Given the description of an element on the screen output the (x, y) to click on. 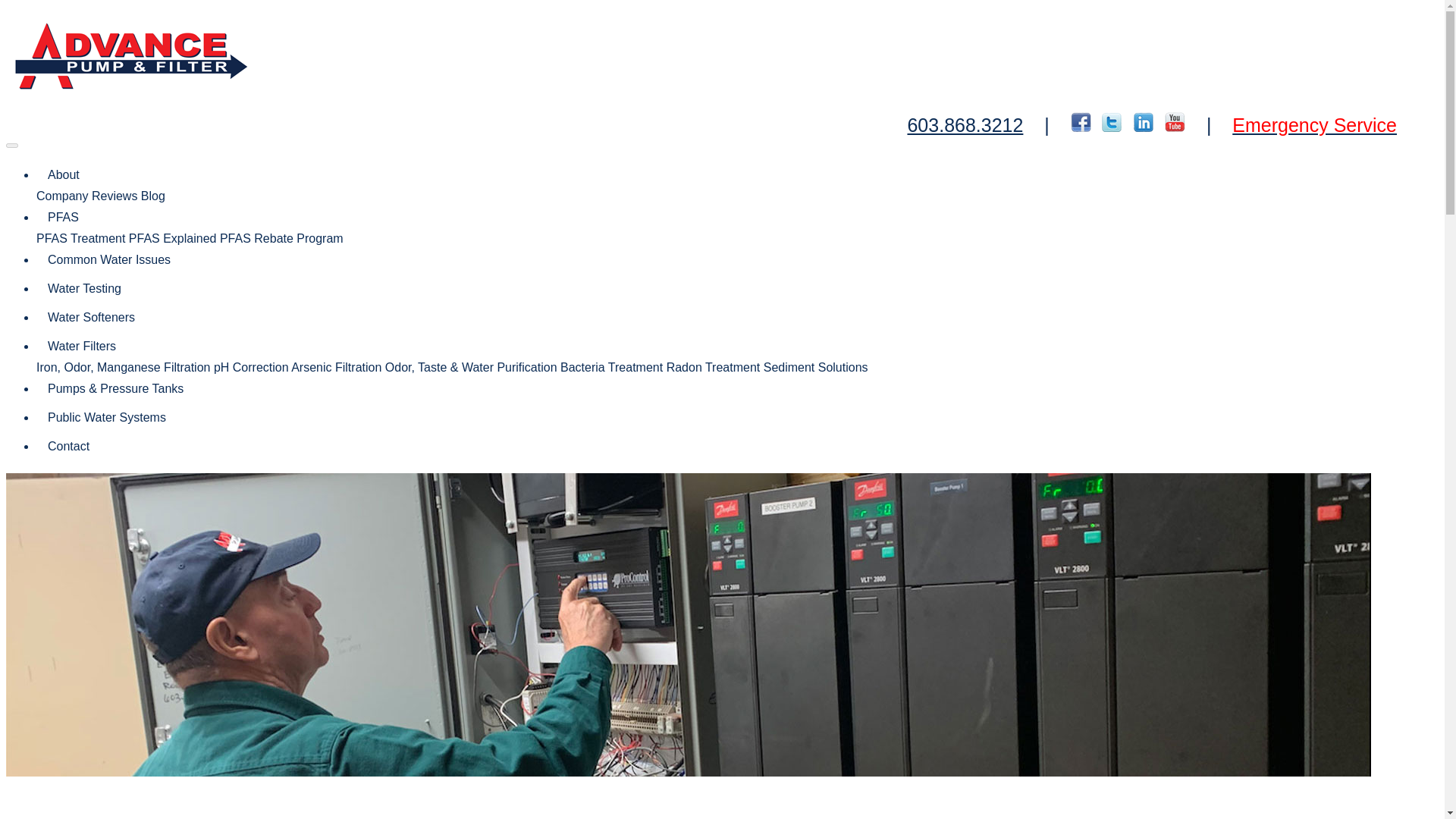
pH Correction (251, 367)
Blog (153, 195)
Emergency Service (1313, 124)
Company (61, 195)
Public Water Systems (106, 417)
Radon Treatment (713, 367)
Iron, Odor, Manganese Filtration (122, 367)
About (63, 174)
Reviews (113, 195)
603.868.3212 (965, 124)
PFAS Treatment (80, 237)
Arsenic Filtration (336, 367)
Water Testing (84, 288)
Bacteria Treatment (611, 367)
Water Softeners (91, 317)
